Given the description of an element on the screen output the (x, y) to click on. 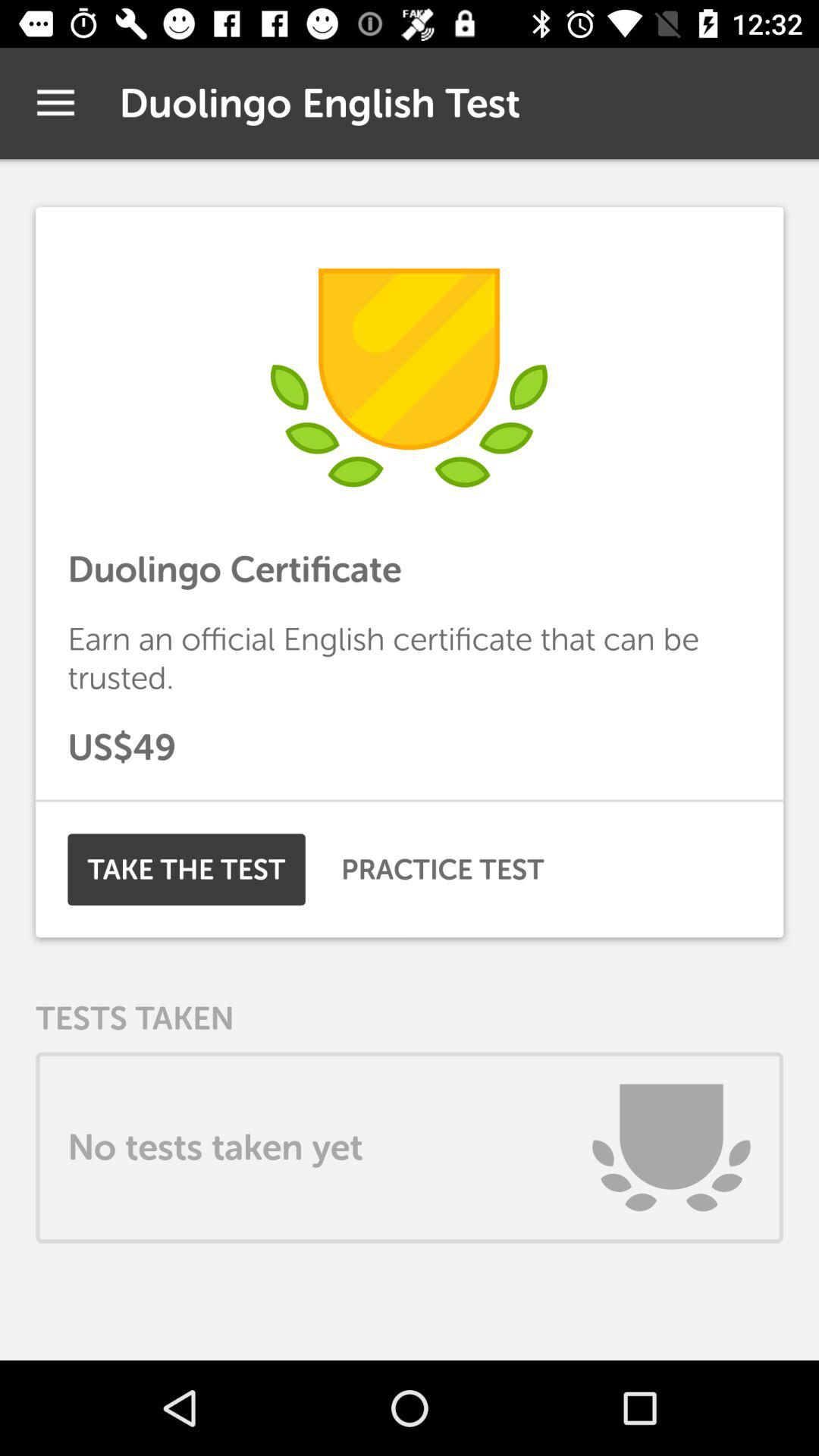
turn off item next to duolingo english test app (55, 103)
